Given the description of an element on the screen output the (x, y) to click on. 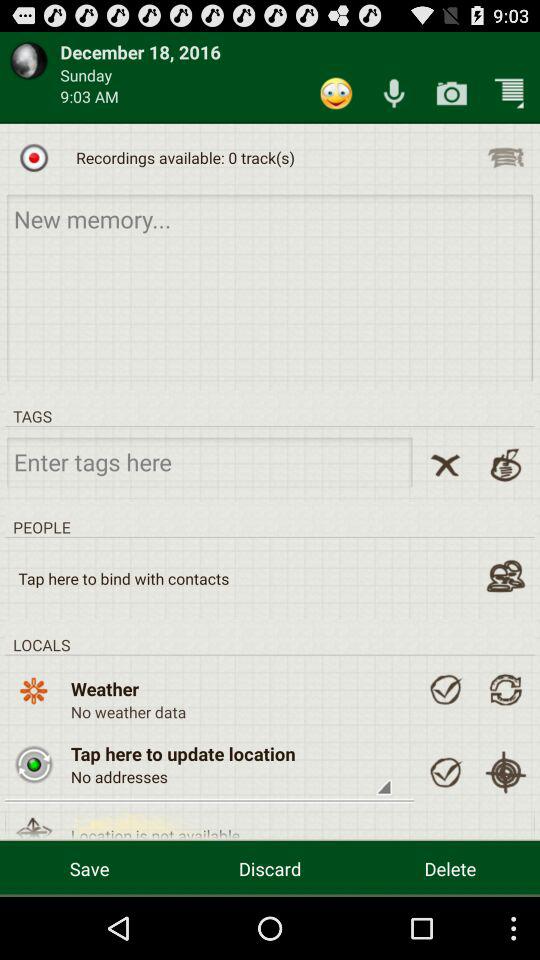
checkmark at bottom right corner (445, 772)
